Given the description of an element on the screen output the (x, y) to click on. 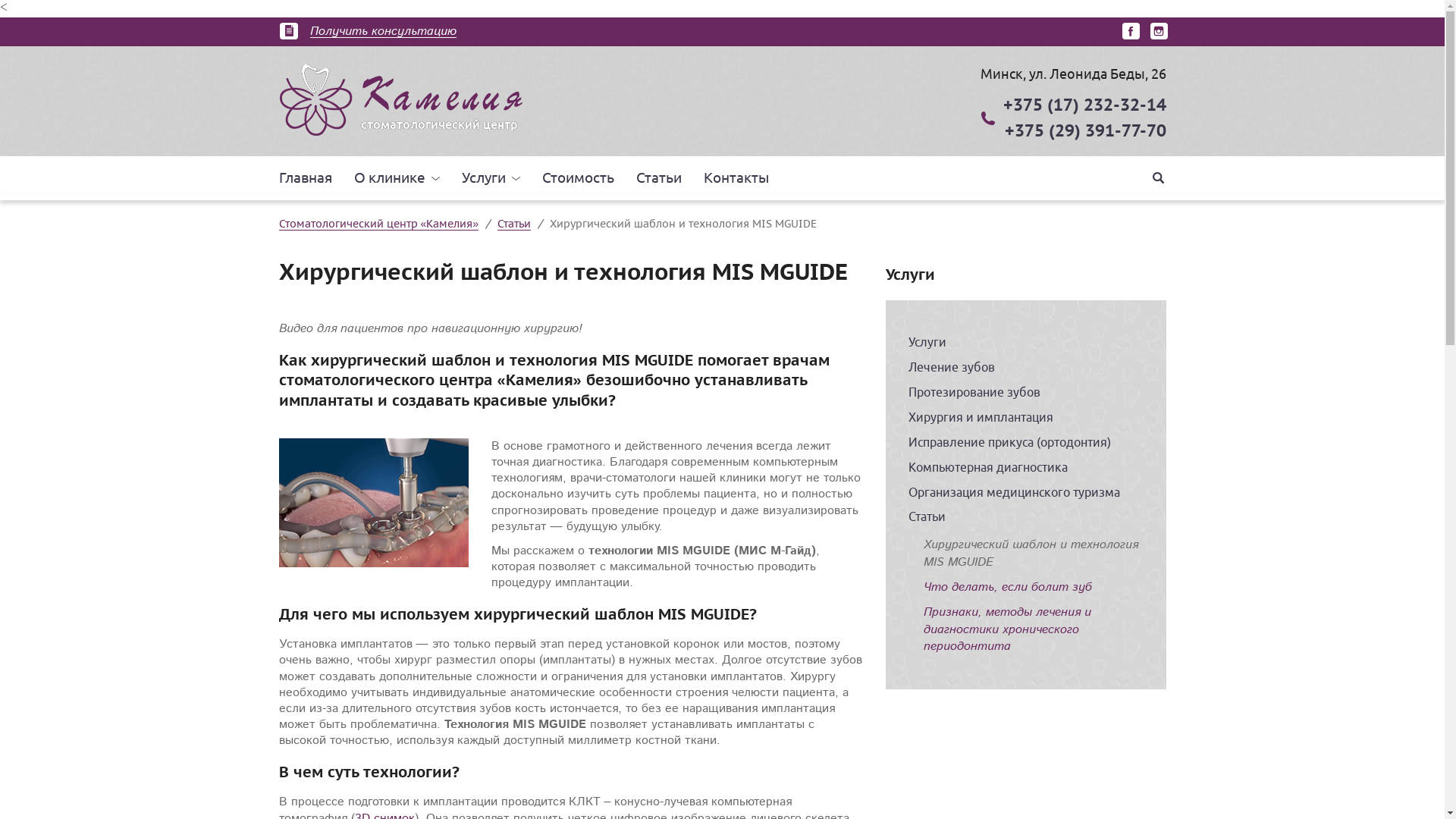
+375 (29) 391-77-70 Element type: text (1084, 130)
+375 (17) 232-32-14 Element type: text (1083, 104)
